Given the description of an element on the screen output the (x, y) to click on. 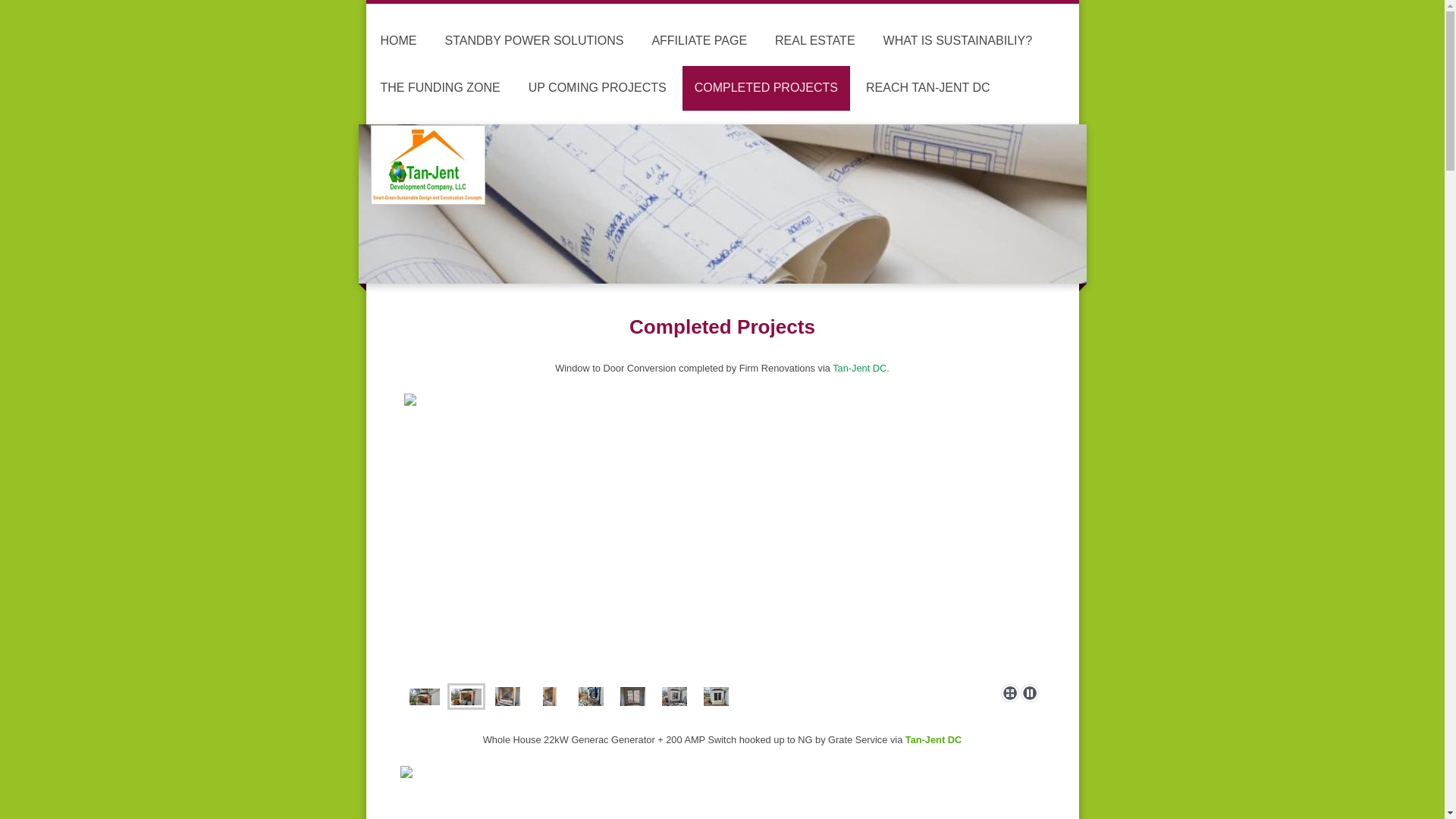
HOME (398, 40)
REACH TAN-JENT DC (928, 88)
REAL ESTATE (814, 40)
WHAT IS SUSTAINABILIY? (957, 40)
STANDBY POWER SOLUTIONS (533, 40)
UP COMING PROJECTS (597, 88)
COMPLETED PROJECTS (766, 88)
THE FUNDING ZONE (440, 88)
AFFILIATE PAGE (698, 40)
